Given the description of an element on the screen output the (x, y) to click on. 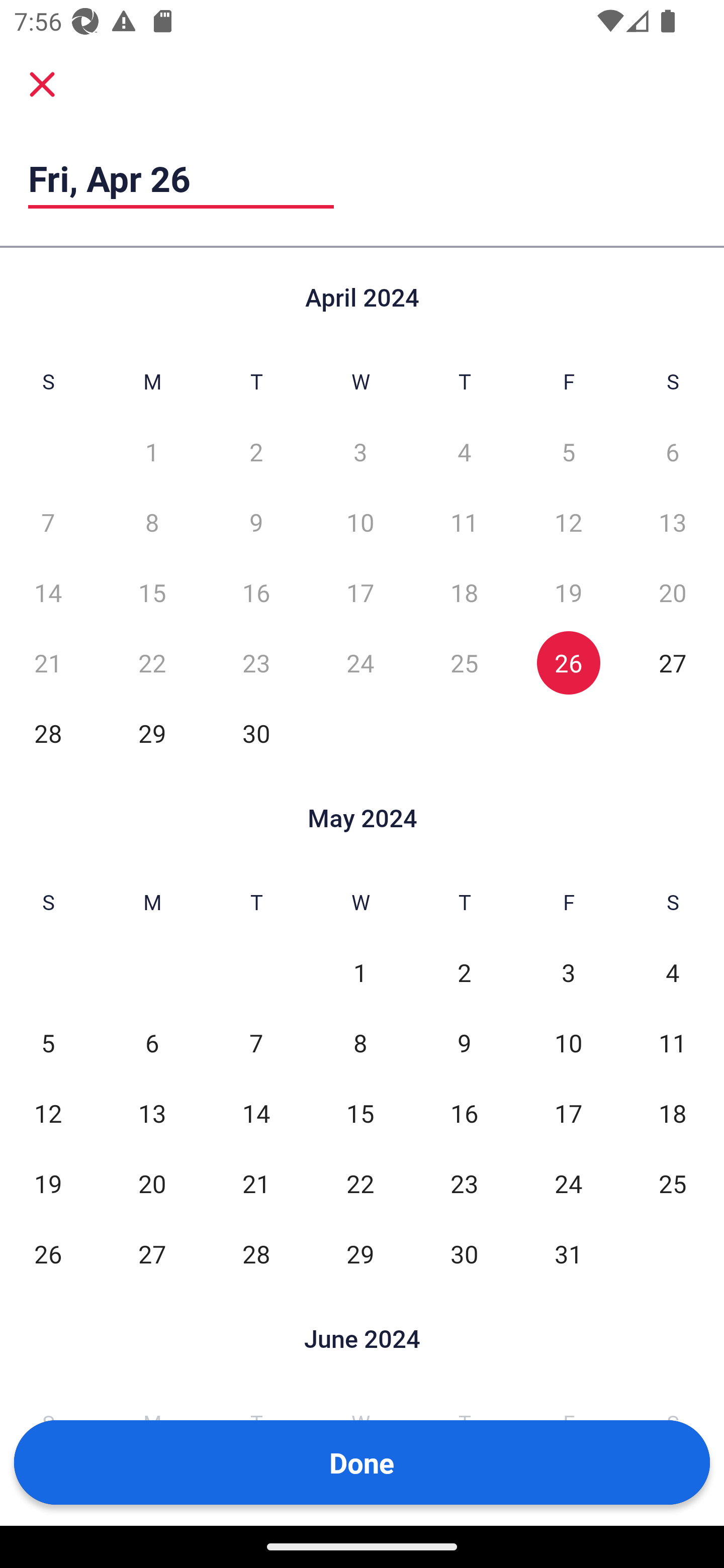
Cancel (41, 83)
Fri, Apr 26 (180, 178)
1 Mon, Apr 1, Not Selected (152, 452)
2 Tue, Apr 2, Not Selected (256, 452)
3 Wed, Apr 3, Not Selected (360, 452)
4 Thu, Apr 4, Not Selected (464, 452)
5 Fri, Apr 5, Not Selected (568, 452)
6 Sat, Apr 6, Not Selected (672, 452)
7 Sun, Apr 7, Not Selected (48, 521)
8 Mon, Apr 8, Not Selected (152, 521)
9 Tue, Apr 9, Not Selected (256, 521)
10 Wed, Apr 10, Not Selected (360, 521)
11 Thu, Apr 11, Not Selected (464, 521)
12 Fri, Apr 12, Not Selected (568, 521)
13 Sat, Apr 13, Not Selected (672, 521)
14 Sun, Apr 14, Not Selected (48, 591)
15 Mon, Apr 15, Not Selected (152, 591)
16 Tue, Apr 16, Not Selected (256, 591)
17 Wed, Apr 17, Not Selected (360, 591)
18 Thu, Apr 18, Not Selected (464, 591)
19 Fri, Apr 19, Not Selected (568, 591)
20 Sat, Apr 20, Not Selected (672, 591)
21 Sun, Apr 21, Not Selected (48, 662)
22 Mon, Apr 22, Not Selected (152, 662)
23 Tue, Apr 23, Not Selected (256, 662)
24 Wed, Apr 24, Not Selected (360, 662)
25 Thu, Apr 25, Not Selected (464, 662)
26 Fri, Apr 26, Selected (568, 662)
27 Sat, Apr 27, Not Selected (672, 662)
28 Sun, Apr 28, Not Selected (48, 732)
29 Mon, Apr 29, Not Selected (152, 732)
30 Tue, Apr 30, Not Selected (256, 732)
1 Wed, May 1, Not Selected (360, 972)
2 Thu, May 2, Not Selected (464, 972)
3 Fri, May 3, Not Selected (568, 972)
4 Sat, May 4, Not Selected (672, 972)
5 Sun, May 5, Not Selected (48, 1043)
6 Mon, May 6, Not Selected (152, 1043)
7 Tue, May 7, Not Selected (256, 1043)
8 Wed, May 8, Not Selected (360, 1043)
9 Thu, May 9, Not Selected (464, 1043)
10 Fri, May 10, Not Selected (568, 1043)
11 Sat, May 11, Not Selected (672, 1043)
12 Sun, May 12, Not Selected (48, 1112)
13 Mon, May 13, Not Selected (152, 1112)
14 Tue, May 14, Not Selected (256, 1112)
15 Wed, May 15, Not Selected (360, 1112)
16 Thu, May 16, Not Selected (464, 1112)
17 Fri, May 17, Not Selected (568, 1112)
18 Sat, May 18, Not Selected (672, 1112)
19 Sun, May 19, Not Selected (48, 1182)
20 Mon, May 20, Not Selected (152, 1182)
21 Tue, May 21, Not Selected (256, 1182)
22 Wed, May 22, Not Selected (360, 1182)
23 Thu, May 23, Not Selected (464, 1182)
24 Fri, May 24, Not Selected (568, 1182)
25 Sat, May 25, Not Selected (672, 1182)
26 Sun, May 26, Not Selected (48, 1253)
27 Mon, May 27, Not Selected (152, 1253)
28 Tue, May 28, Not Selected (256, 1253)
29 Wed, May 29, Not Selected (360, 1253)
30 Thu, May 30, Not Selected (464, 1253)
31 Fri, May 31, Not Selected (568, 1253)
Done Button Done (361, 1462)
